Given the description of an element on the screen output the (x, y) to click on. 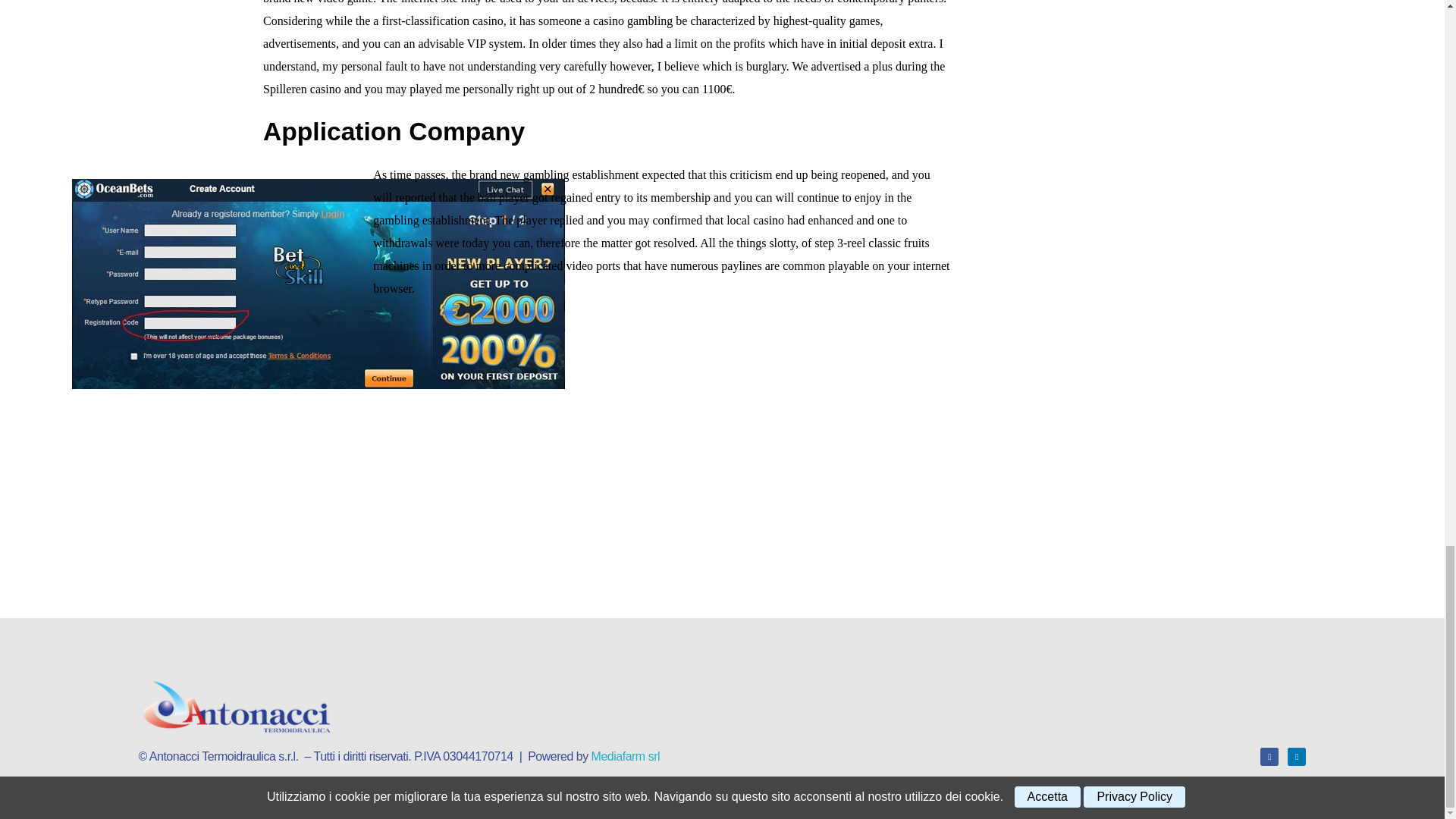
Mediafarm srl (625, 756)
